Given the description of an element on the screen output the (x, y) to click on. 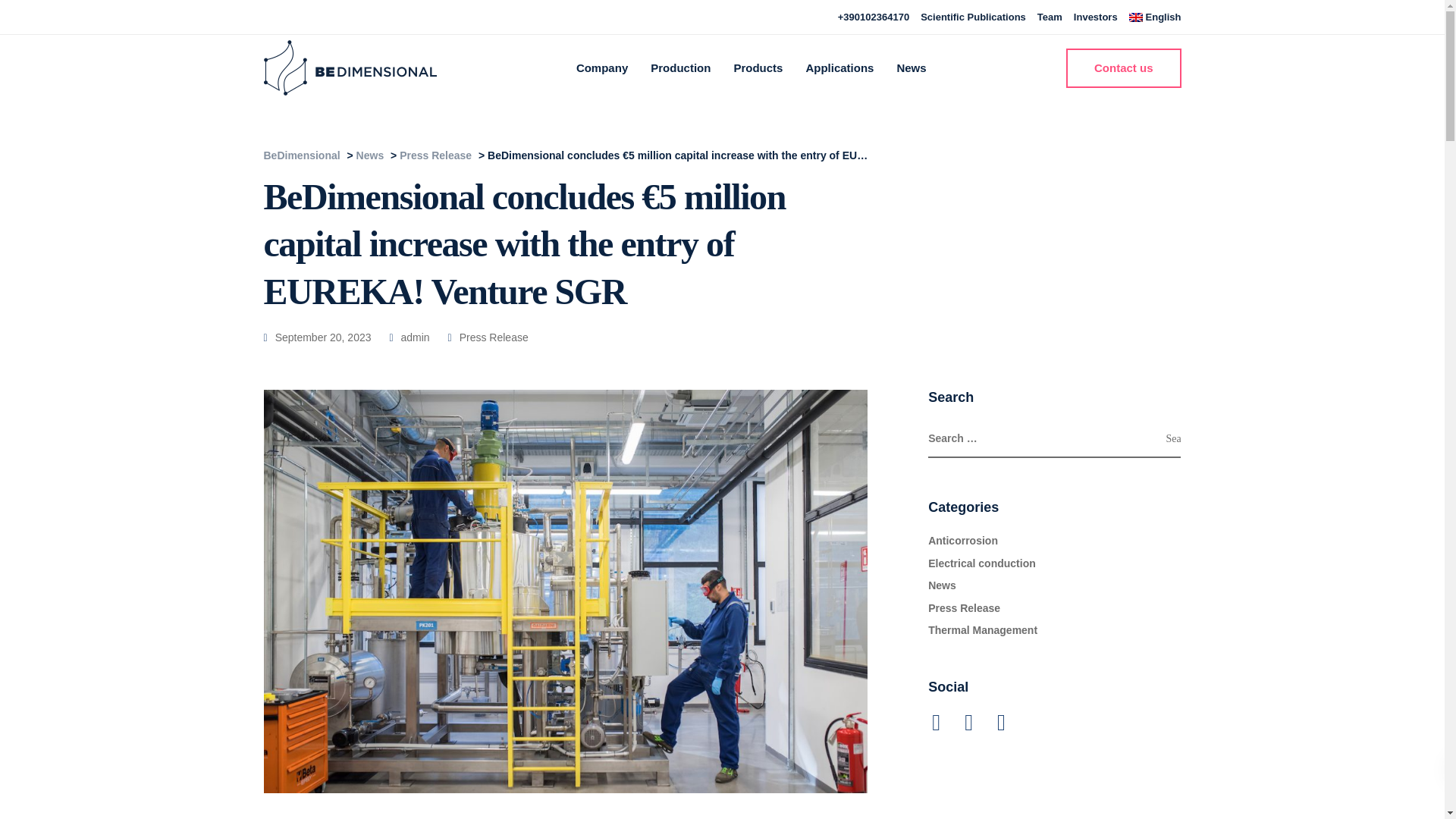
Thermal Management (982, 630)
English (1154, 17)
Products (757, 67)
Investors (1096, 16)
Go to the Press Release Category archives. (434, 155)
Electrical conduction (981, 563)
English (1154, 17)
News (942, 585)
Scientific Publications (973, 16)
Posts by admin (415, 337)
